Given the description of an element on the screen output the (x, y) to click on. 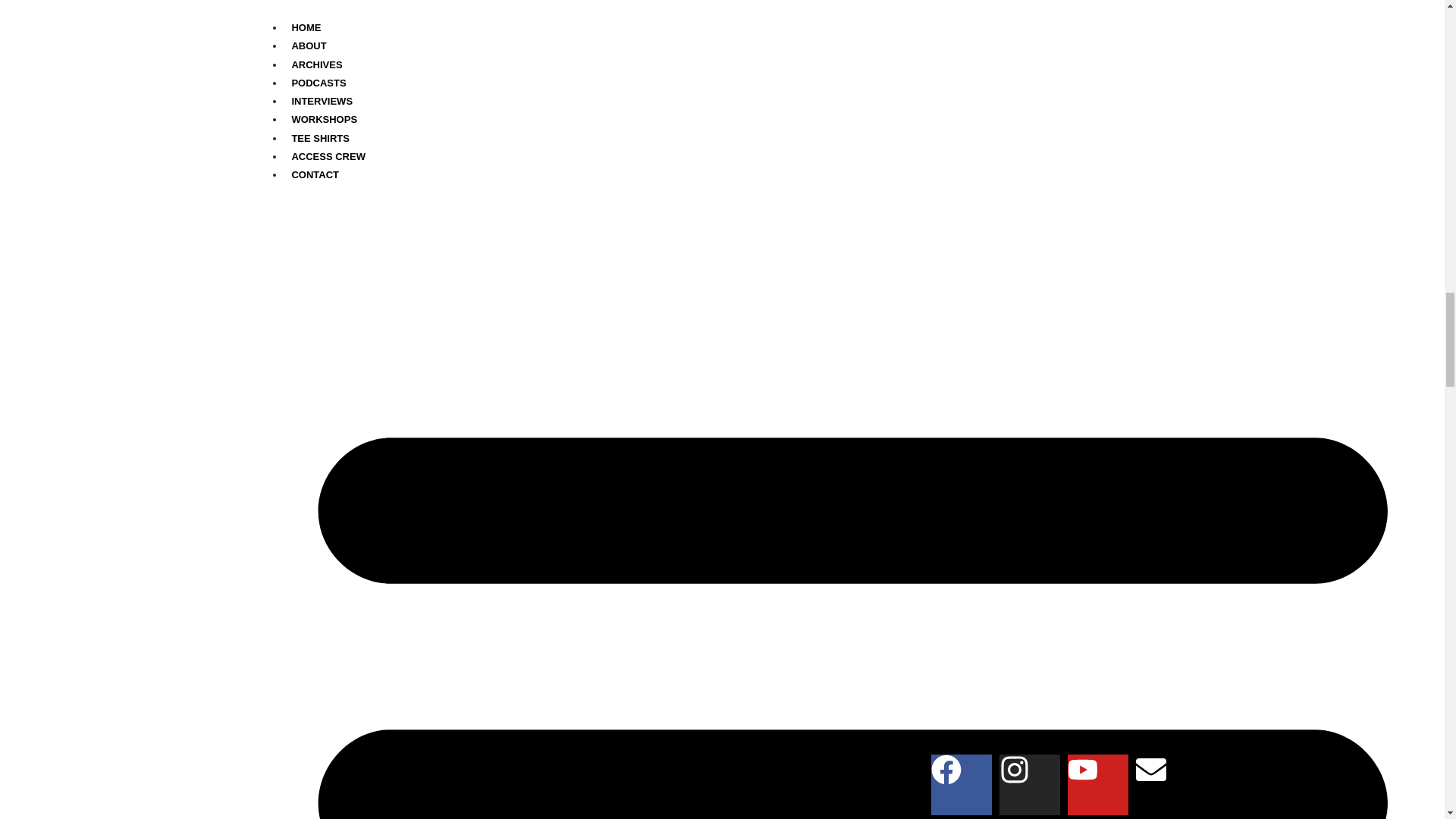
WORKSHOPS (319, 212)
MISSING CONTENT? Click here for details. (349, 752)
PODCASTS (313, 170)
CONTACT (307, 274)
INTERVIEWS (316, 191)
ACCESS CREW (323, 255)
ABOUT (303, 126)
HOME (300, 105)
TEE SHIRTS (315, 233)
ARCHIVES (311, 147)
